Given the description of an element on the screen output the (x, y) to click on. 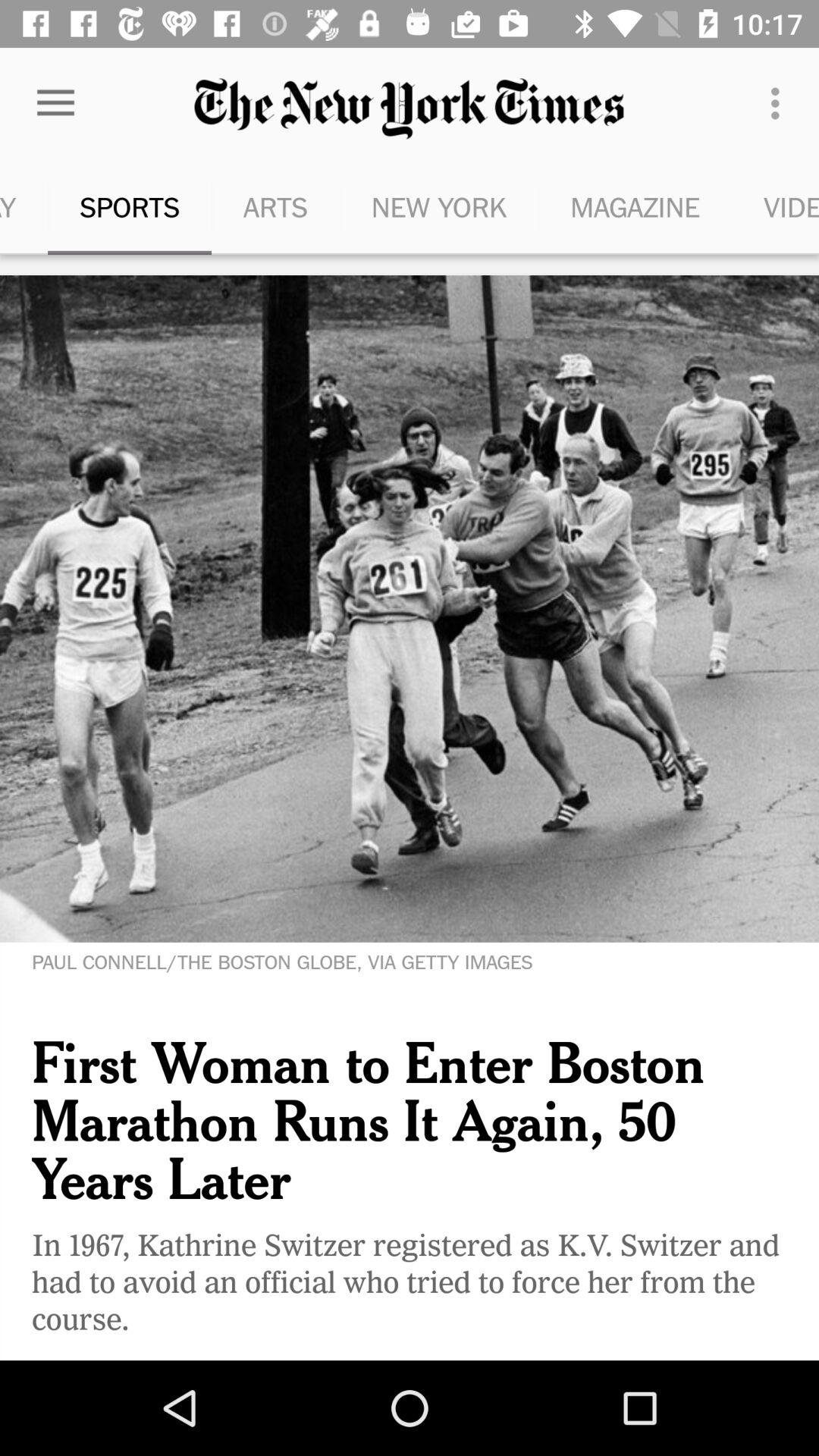
turn on the icon to the right of the new york item (634, 206)
